Given the description of an element on the screen output the (x, y) to click on. 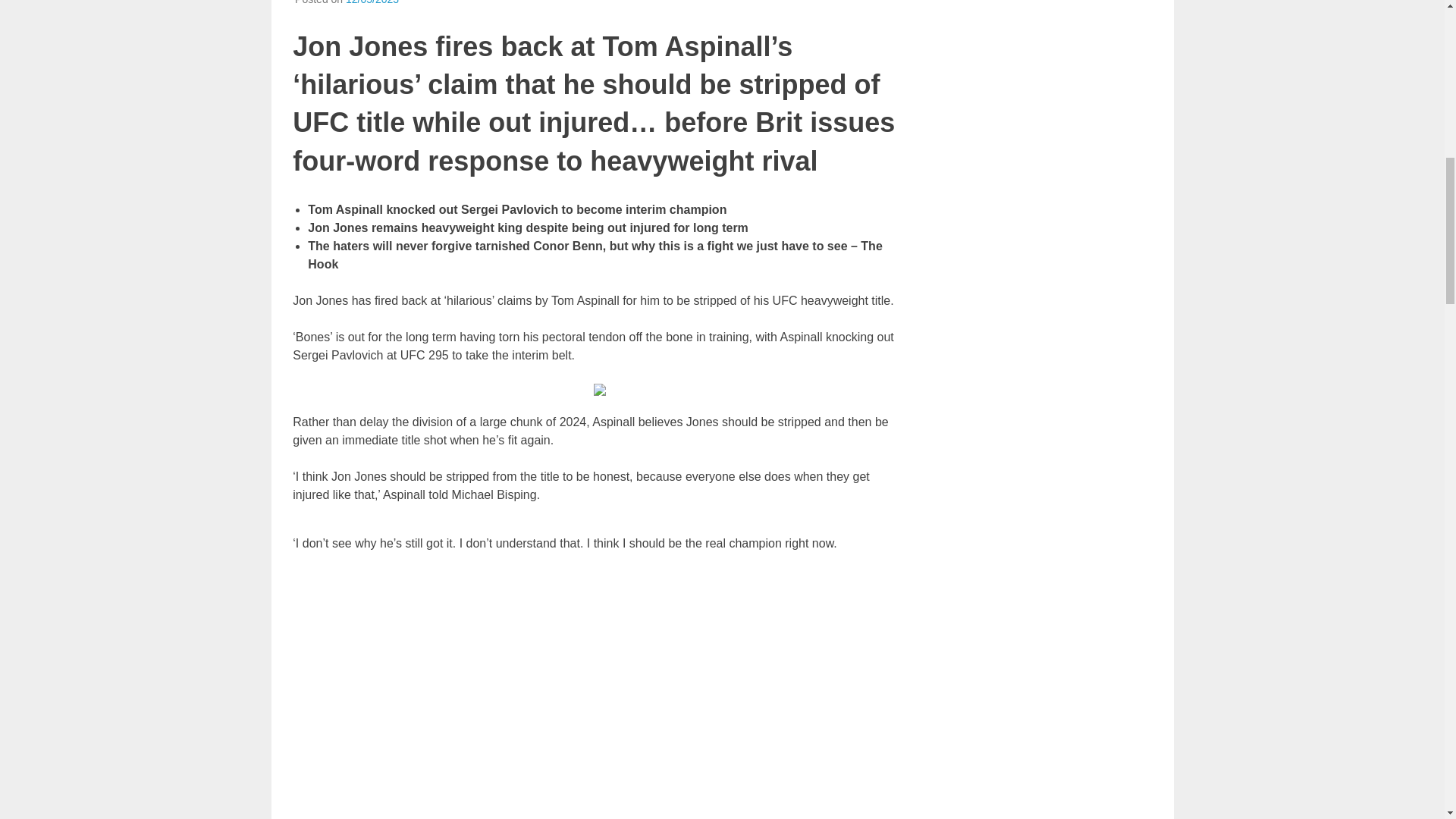
09:24 (372, 2)
